Given the description of an element on the screen output the (x, y) to click on. 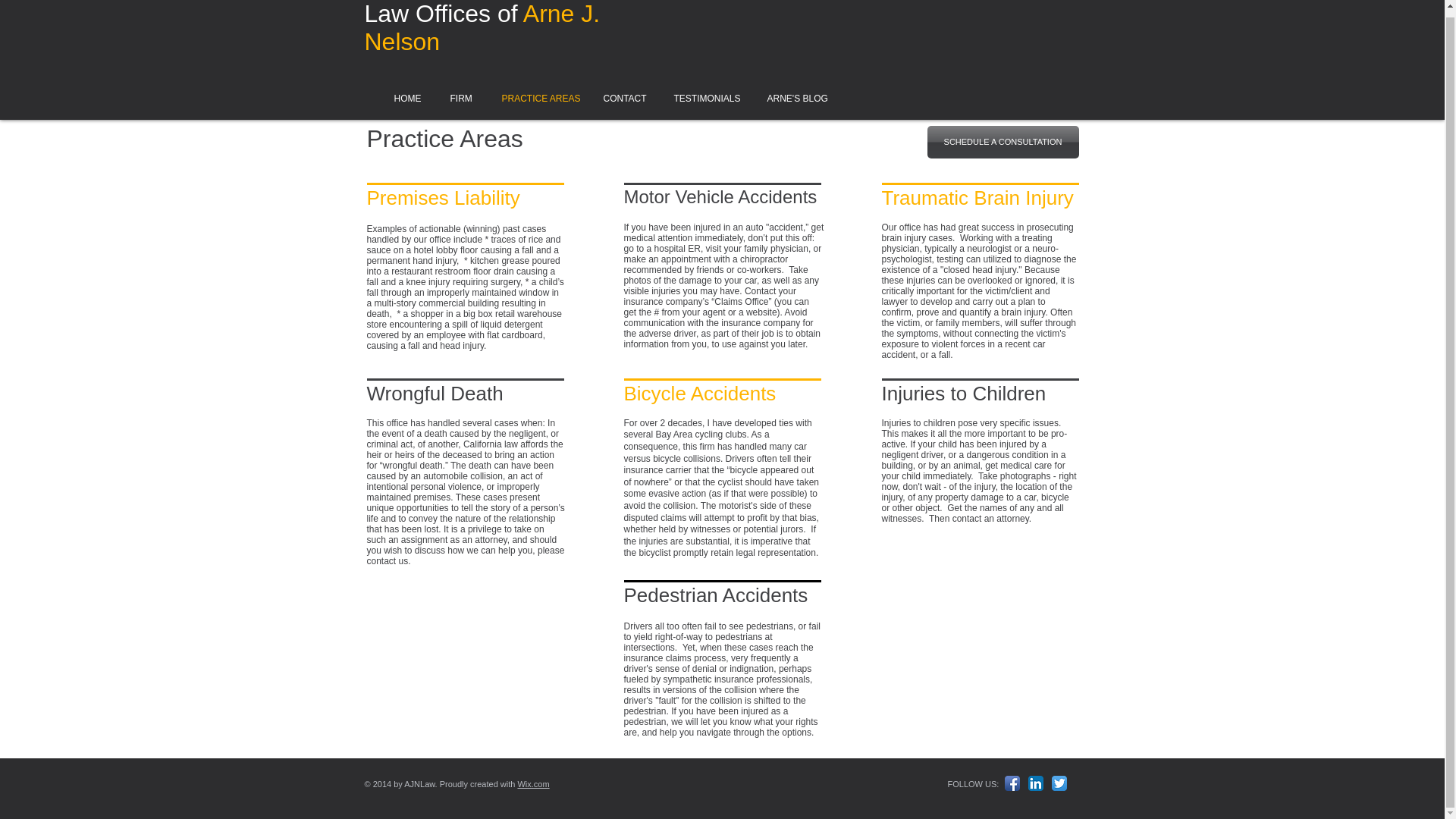
Injuries to Children (962, 393)
Motor Vehicle Accidents (719, 196)
ARNE'S BLOG (794, 98)
Bicycle Accidents (699, 393)
HOME (405, 98)
CONTACT (622, 98)
TESTIMONIALS (704, 98)
PRACTICE AREAS (535, 98)
Pedestrian Accidents (715, 594)
SCHEDULE A CONSULTATION (1002, 142)
Premises Liability (442, 197)
Wix.com (532, 783)
Traumatic Brain Injury (976, 197)
Wrongful Death (434, 393)
FIRM (458, 98)
